Given the description of an element on the screen output the (x, y) to click on. 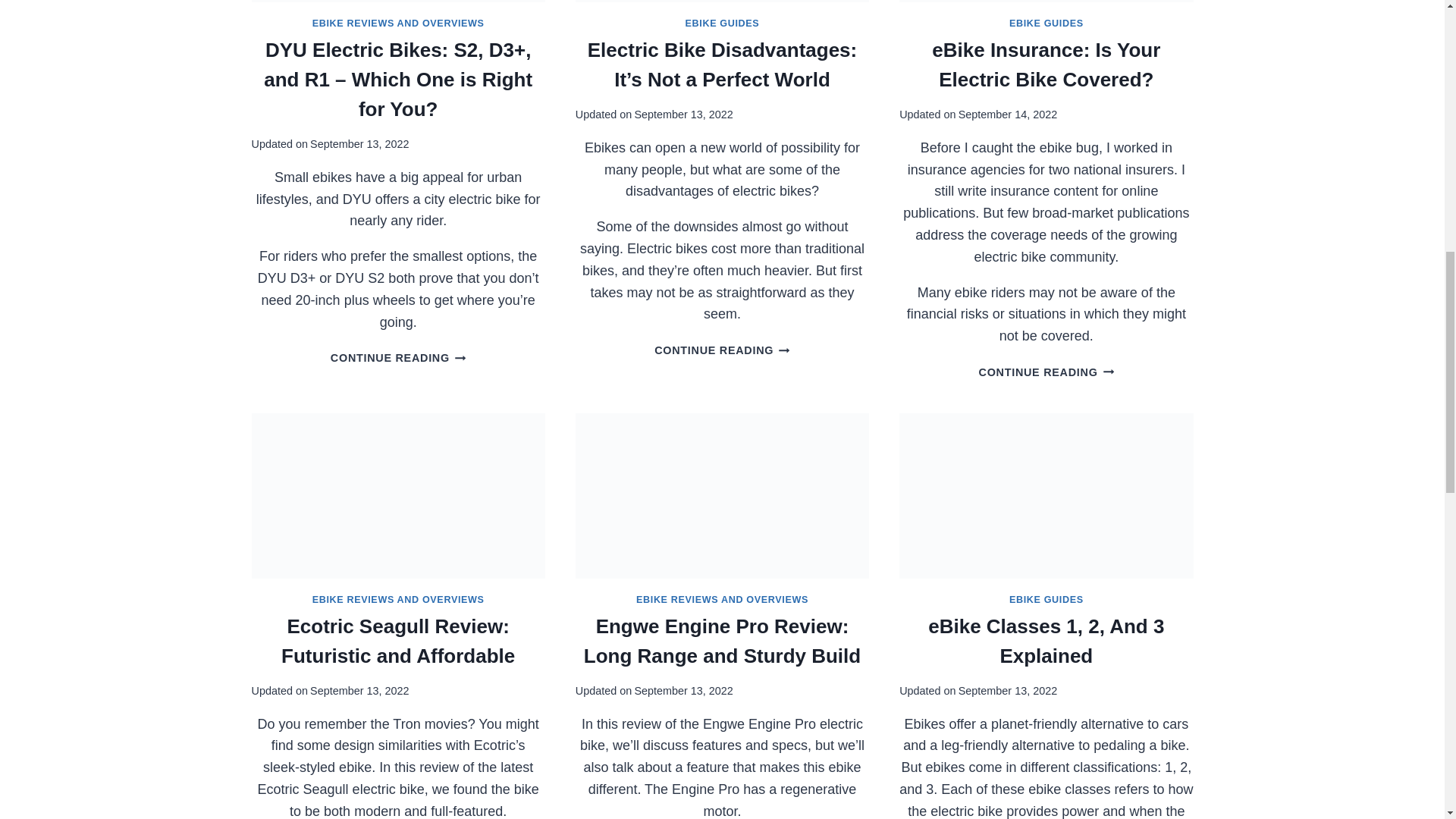
EBIKE REVIEWS AND OVERVIEWS (722, 599)
EBIKE REVIEWS AND OVERVIEWS (398, 23)
Engwe Engine Pro Review: Long Range and Sturdy Build 8 (722, 495)
EBIKE GUIDES (722, 23)
EBIKE GUIDES (1046, 23)
eBike Insurance: Is Your Electric Bike Covered? (1045, 64)
Ecotric Seagull Review: Futuristic and Affordable 7 (397, 495)
eBike Classes 1, 2, And 3 Explained 9 (1045, 495)
